Given the description of an element on the screen output the (x, y) to click on. 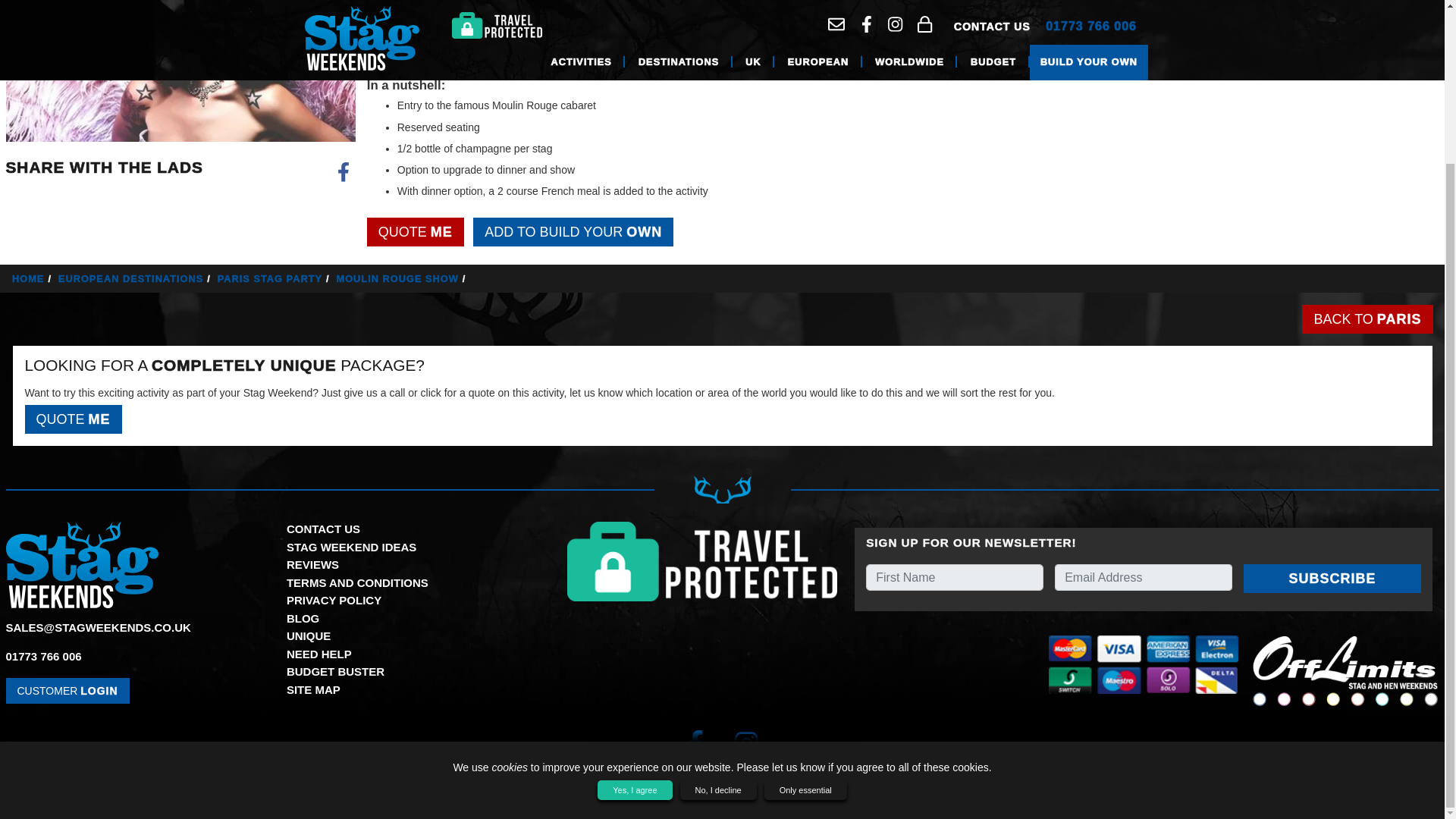
PRIVACY POLICY (333, 599)
BUDGET BUSTER (335, 671)
NEED HELP (319, 653)
SITE MAP (313, 689)
BACK TO PARIS (1366, 318)
BLOG (302, 617)
CONTACT US (322, 528)
01773 766 006 (43, 656)
TERMS AND CONDITIONS (357, 582)
STAG WEEKEND IDEAS (351, 546)
